Given the description of an element on the screen output the (x, y) to click on. 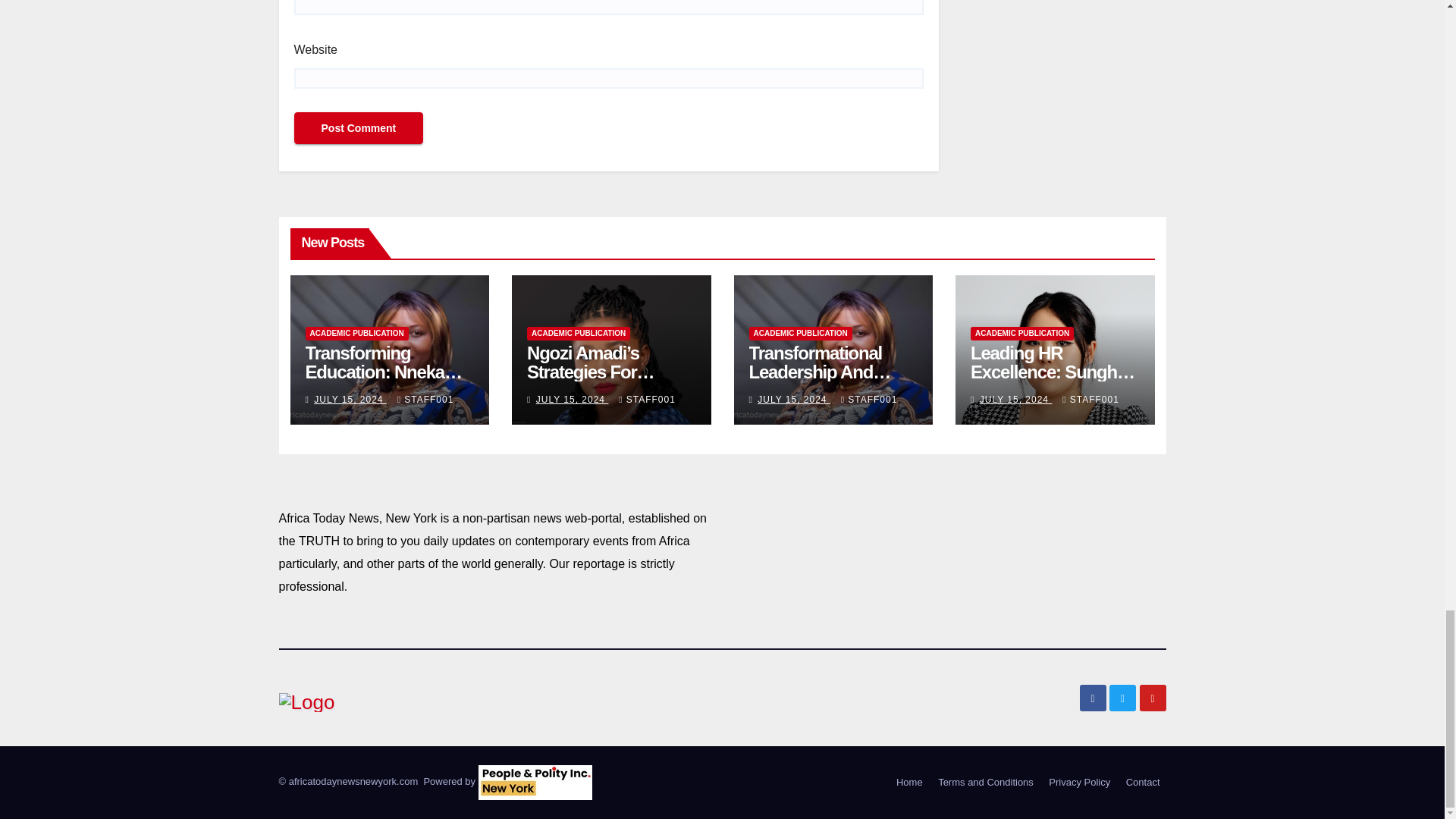
Post Comment (358, 128)
